Given the description of an element on the screen output the (x, y) to click on. 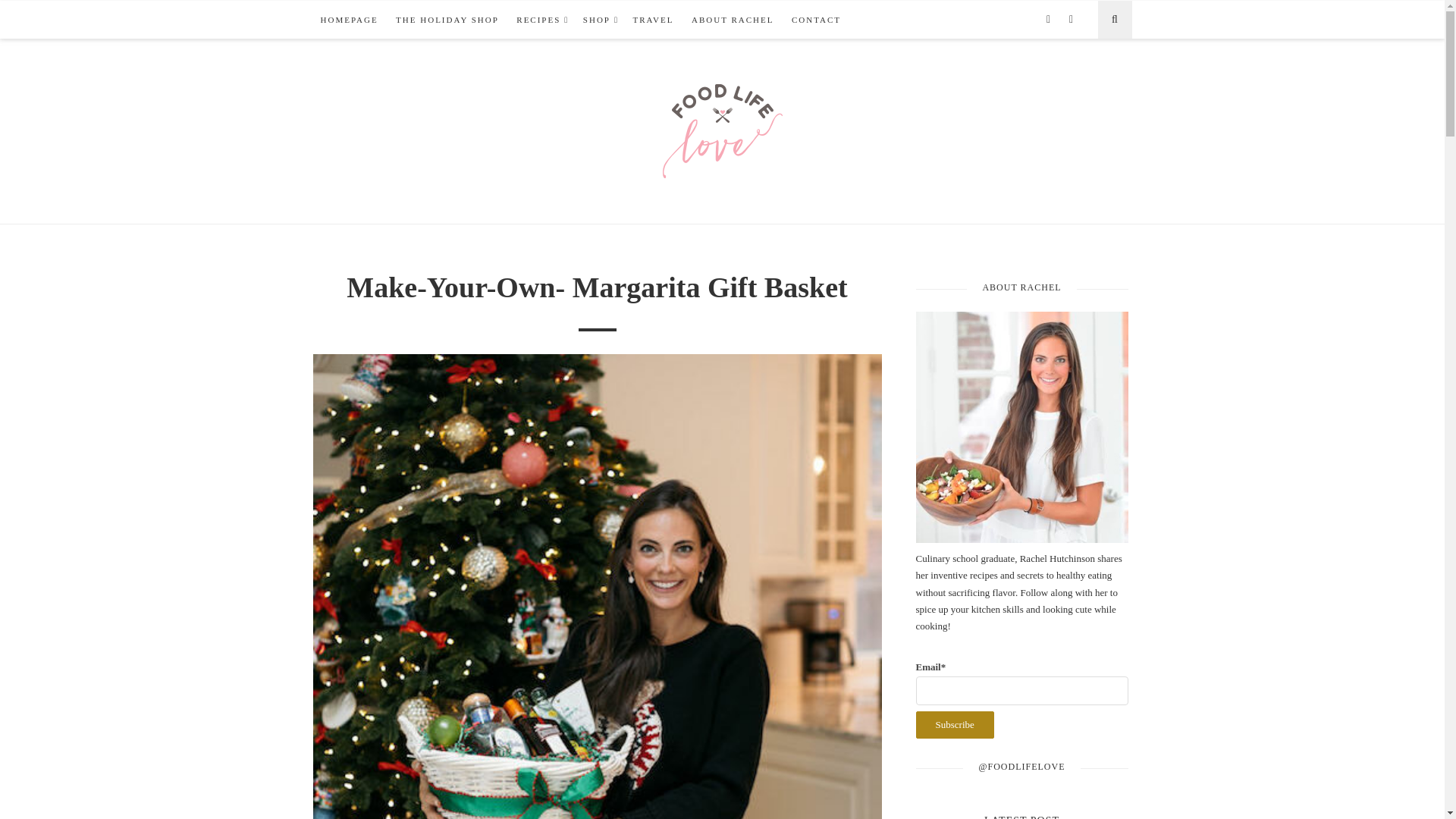
Food Life Love  (721, 130)
HOMEPAGE (349, 19)
Subscribe (954, 724)
